Given the description of an element on the screen output the (x, y) to click on. 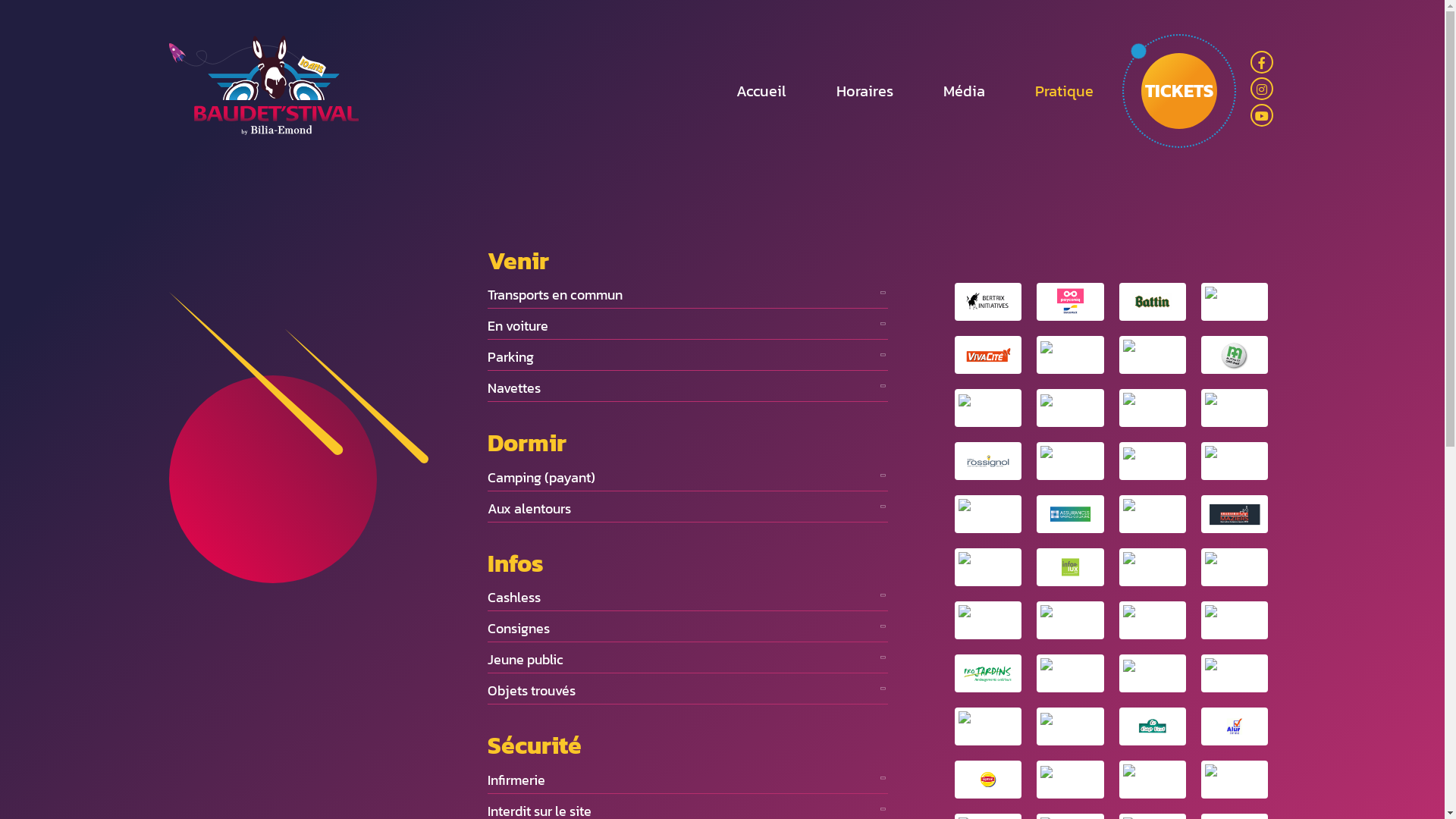
Navettes Element type: text (687, 387)
Jeune public Element type: text (687, 659)
Consignes Element type: text (687, 628)
Infirmerie Element type: text (687, 779)
Horaires Element type: text (863, 90)
Camping (payant) Element type: text (687, 477)
Aux alentours Element type: text (687, 508)
En voiture Element type: text (687, 325)
Accueil Element type: text (760, 90)
Pratique Element type: text (1063, 90)
Cashless Element type: text (687, 596)
Transports en commun Element type: text (687, 294)
Parking Element type: text (687, 356)
